Given the description of an element on the screen output the (x, y) to click on. 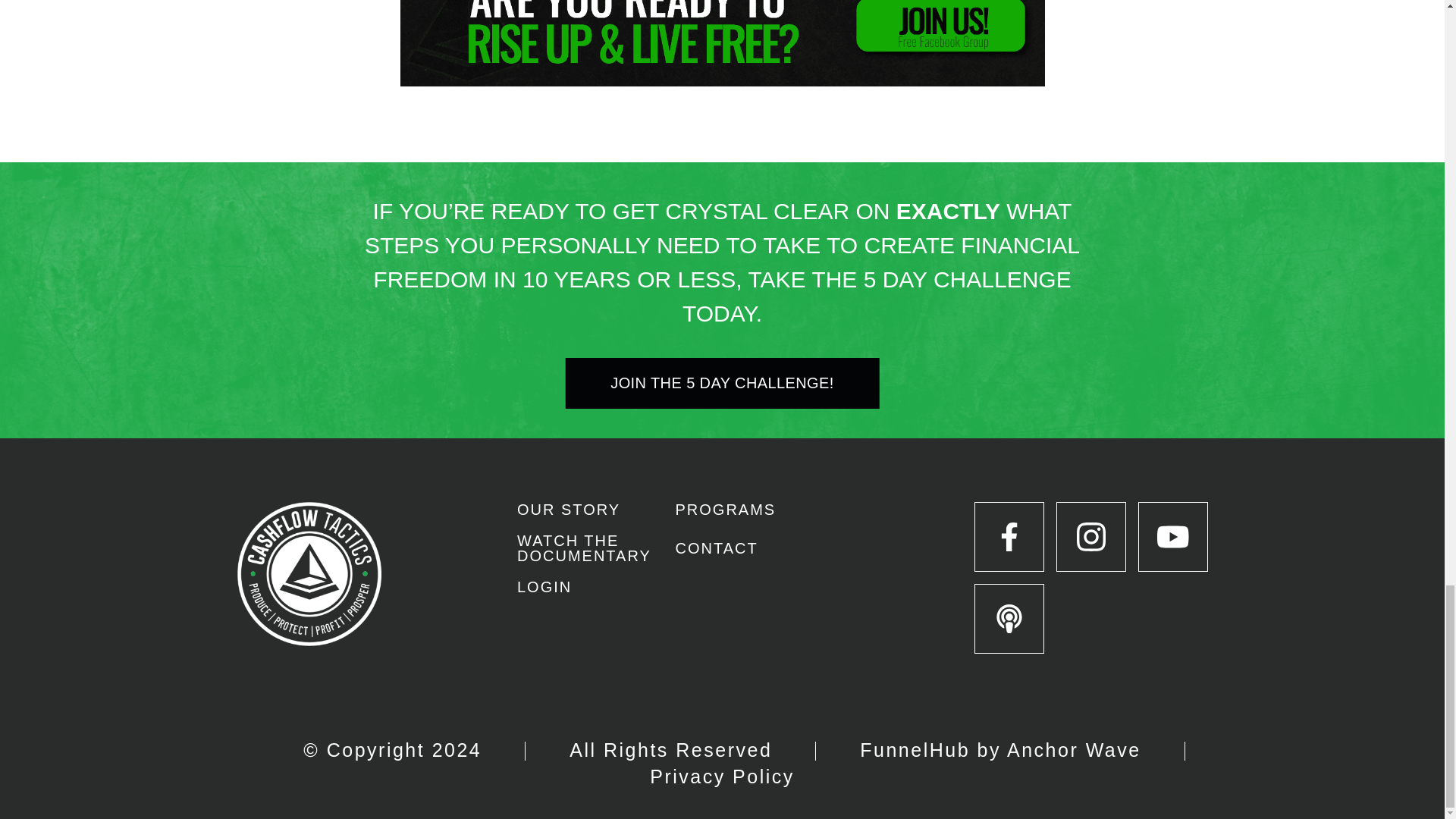
Anchor Wave (1074, 749)
JOIN THE 5 DAY CHALLENGE! (721, 383)
LOGIN (544, 586)
FunnelHub (918, 749)
WATCH THE DOCUMENTARY (584, 548)
OUR STORY (568, 509)
PROGRAMS (725, 509)
Privacy Policy (721, 776)
CONTACT (716, 548)
